Given the description of an element on the screen output the (x, y) to click on. 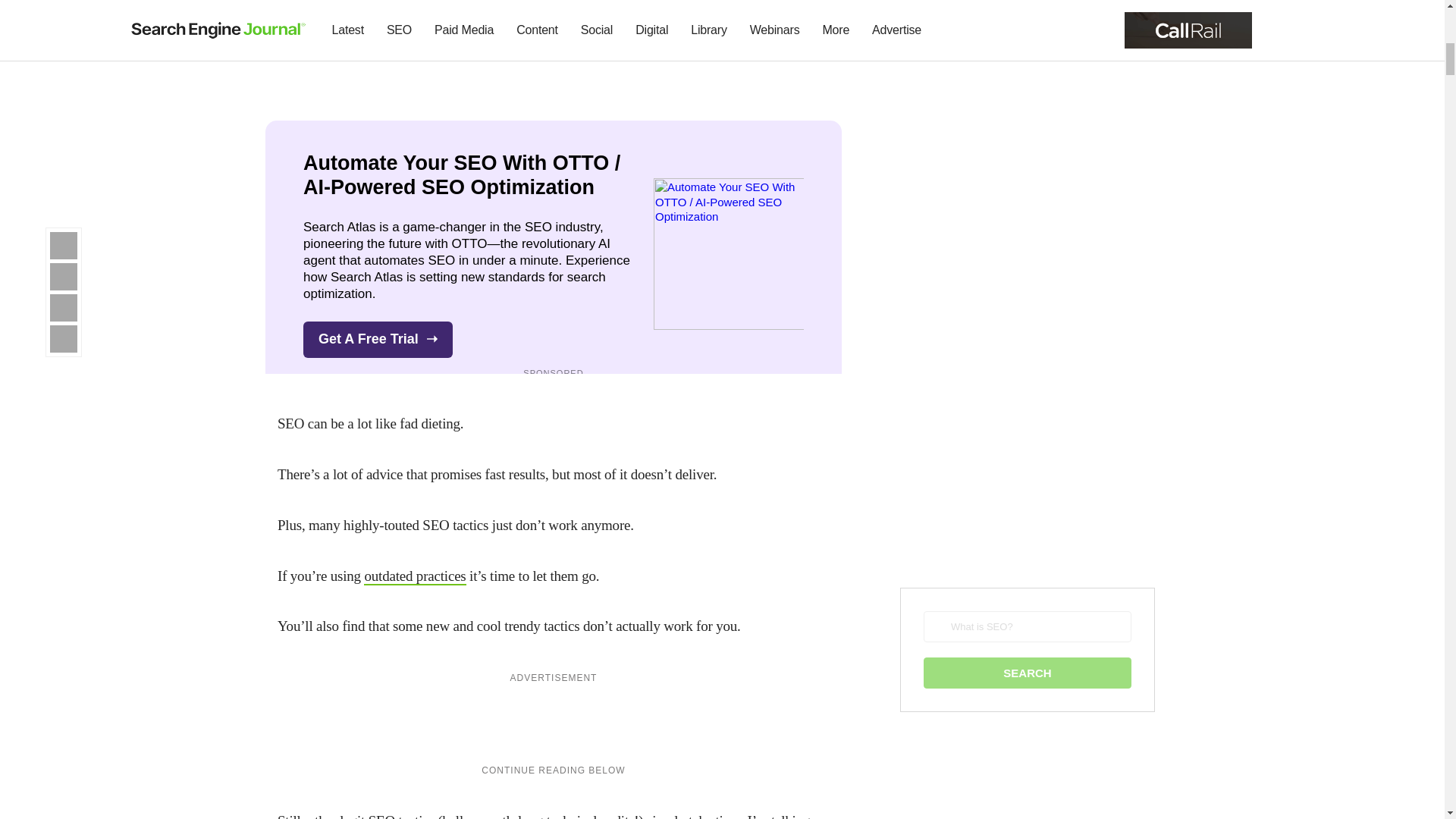
SEARCH (1027, 672)
SEARCH (1027, 672)
